Given the description of an element on the screen output the (x, y) to click on. 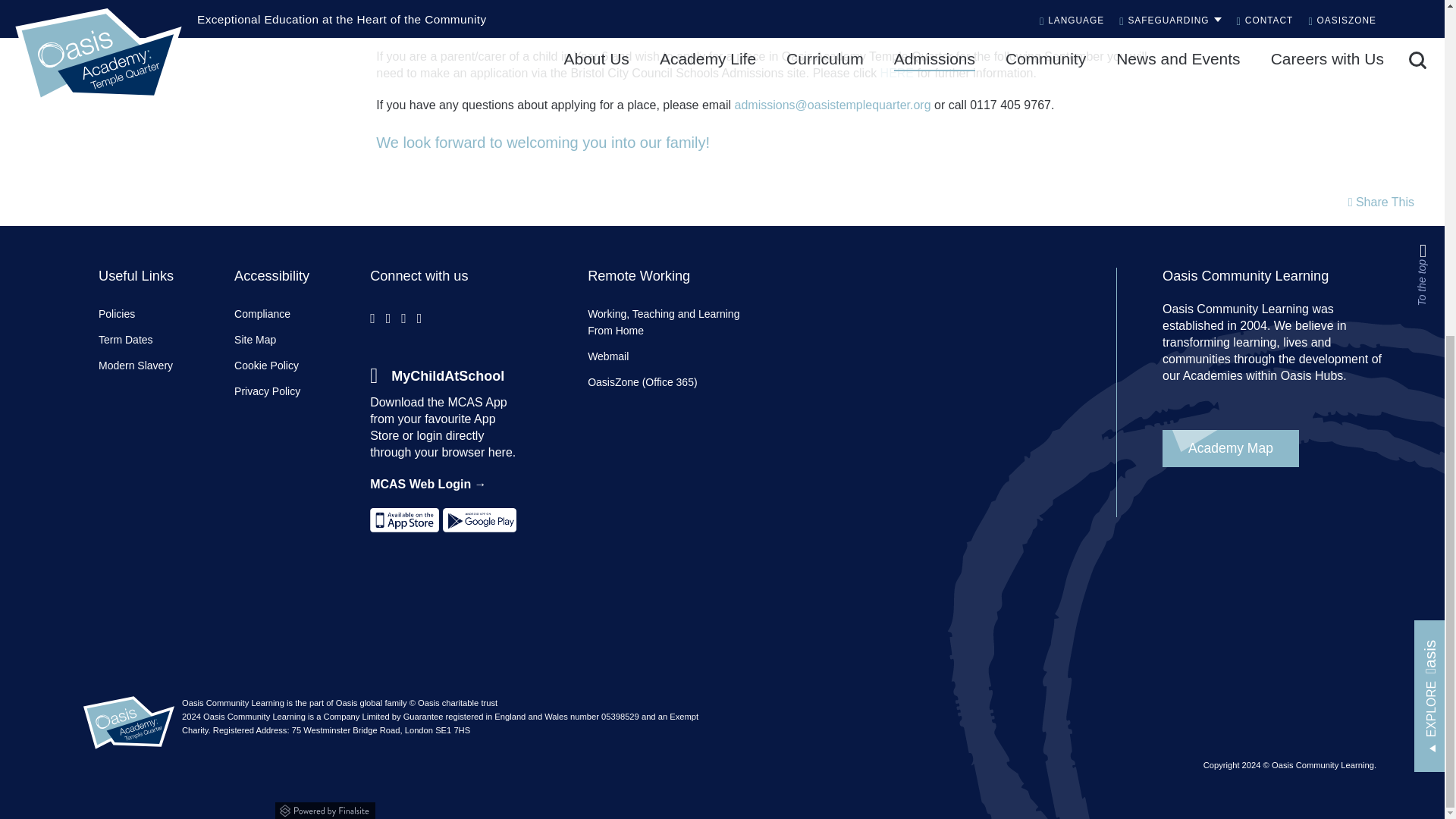
MyChildAtSchool Web Logn (436, 376)
Powered by Finalsite opens in a new window (722, 808)
MyChildAtSchool Web Login (427, 483)
